Given the description of an element on the screen output the (x, y) to click on. 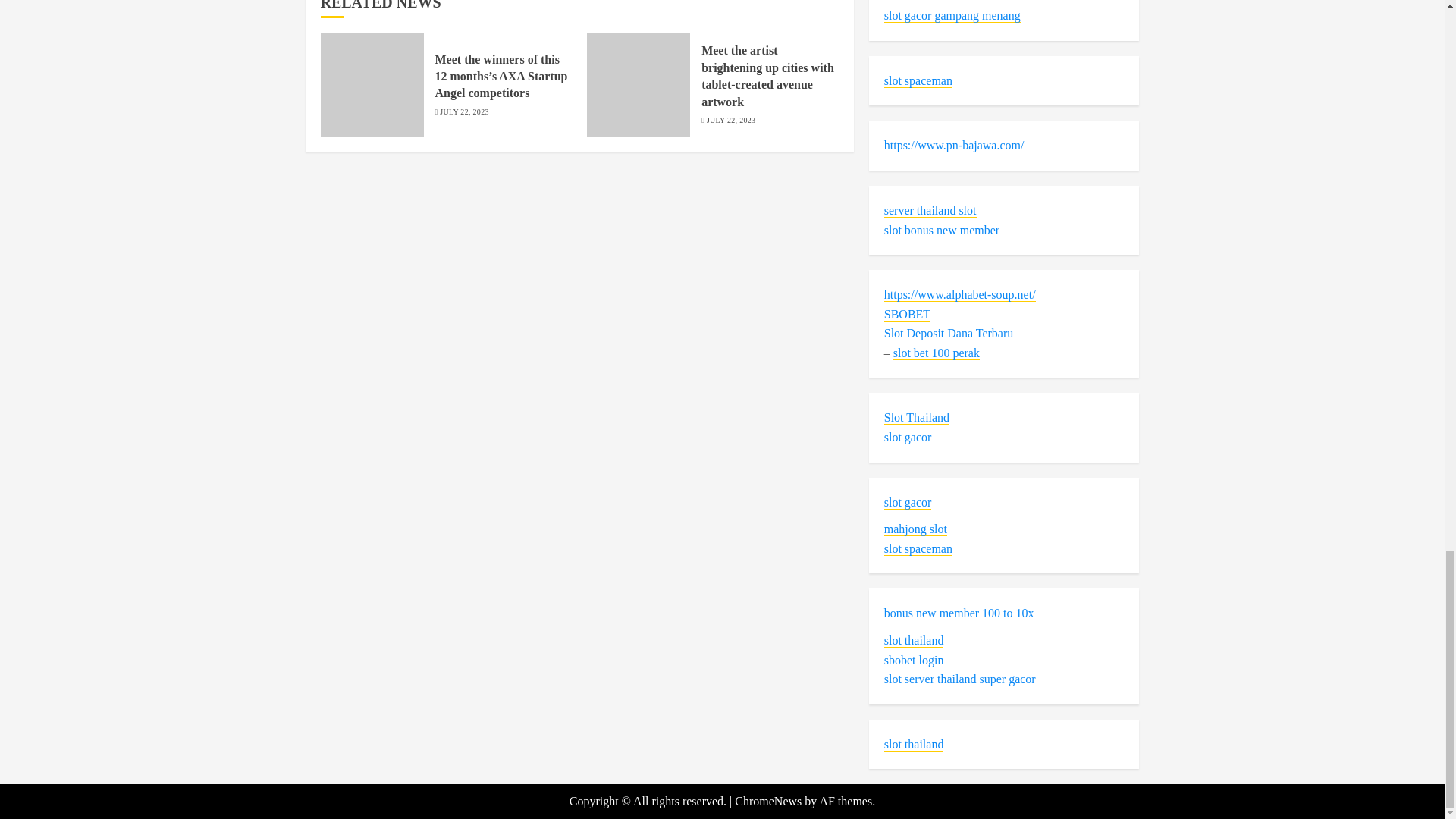
JULY 22, 2023 (730, 120)
JULY 22, 2023 (463, 112)
